Given the description of an element on the screen output the (x, y) to click on. 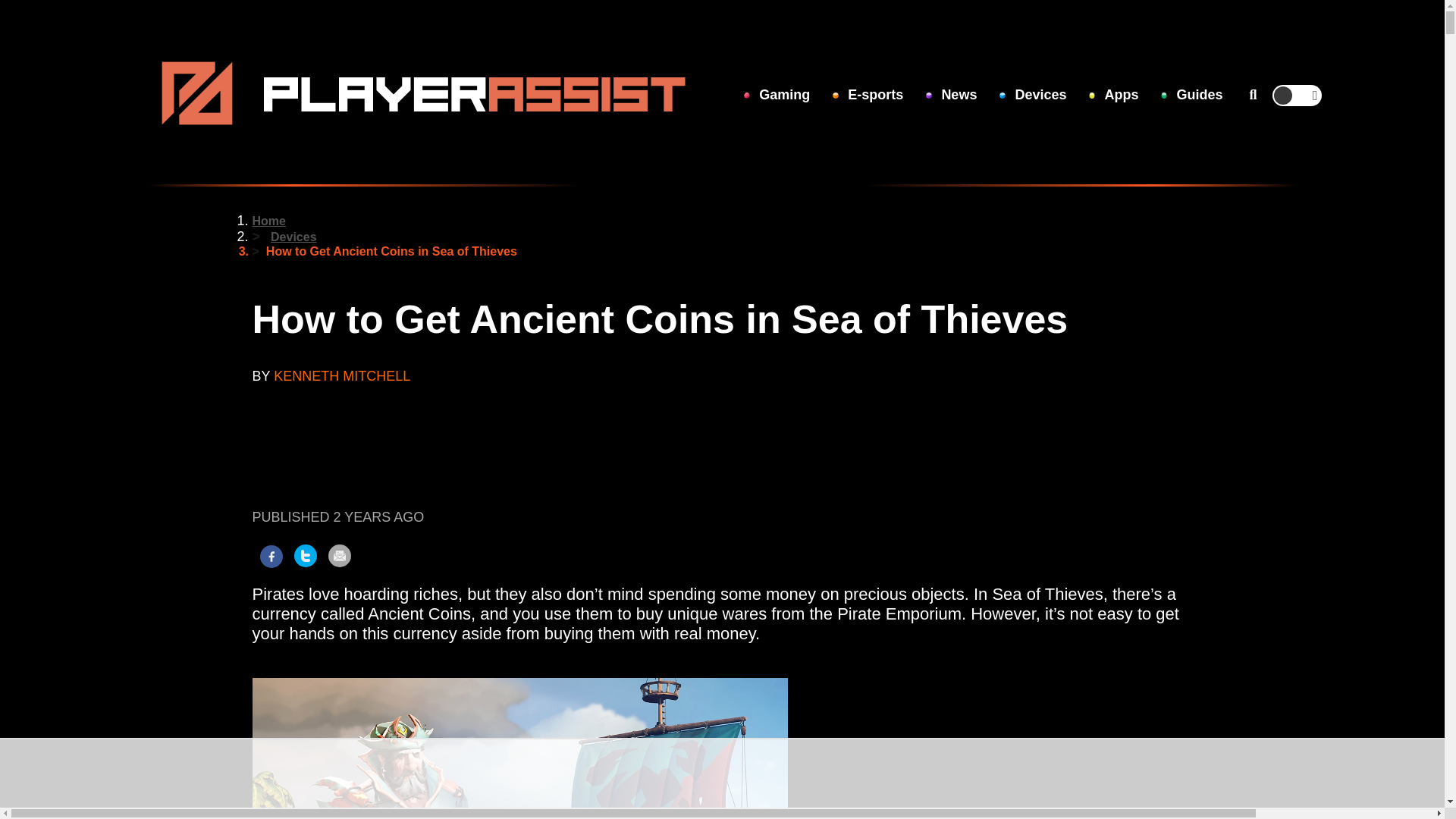
Gaming (776, 96)
Share to Twitter (305, 555)
Devices (1031, 96)
Home (268, 220)
Guides (1191, 96)
E-sports (867, 96)
Apps (1113, 96)
Share to Facebook (270, 556)
News (951, 96)
Devices (293, 236)
